Given the description of an element on the screen output the (x, y) to click on. 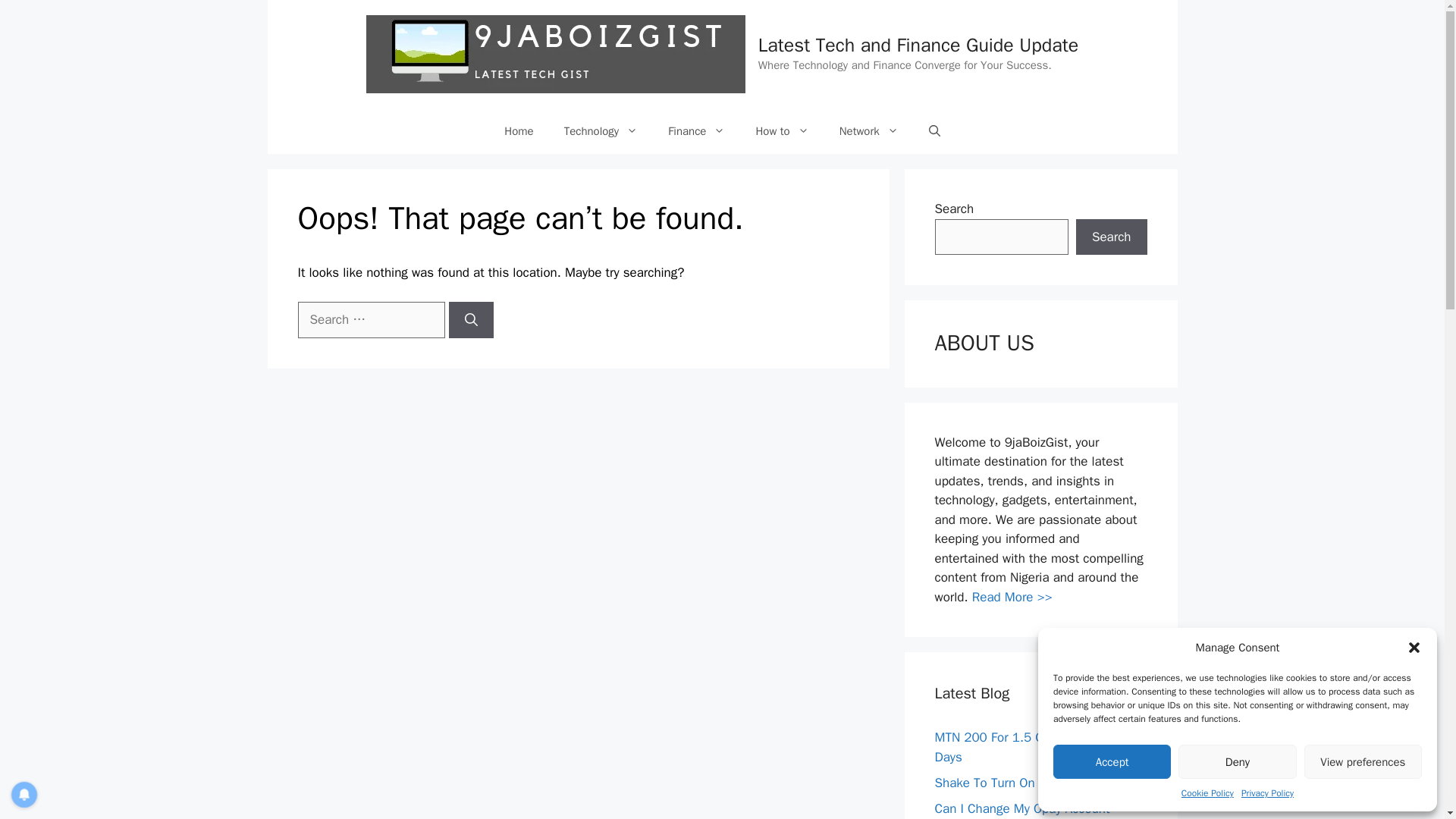
How to (781, 130)
Privacy Policy (1267, 793)
Finance (695, 130)
Network (869, 130)
Search (1111, 236)
Cookie Policy (1206, 793)
Search for: (370, 320)
Deny (1236, 761)
Latest Tech and Finance Guide Update (918, 44)
View preferences (1363, 761)
Technology (600, 130)
Shake To Turn On Flashlight iPhone (1034, 782)
Accept (1111, 761)
Home (518, 130)
MTN 200 For 1.5 GB Code For 7 Days (1025, 746)
